Given the description of an element on the screen output the (x, y) to click on. 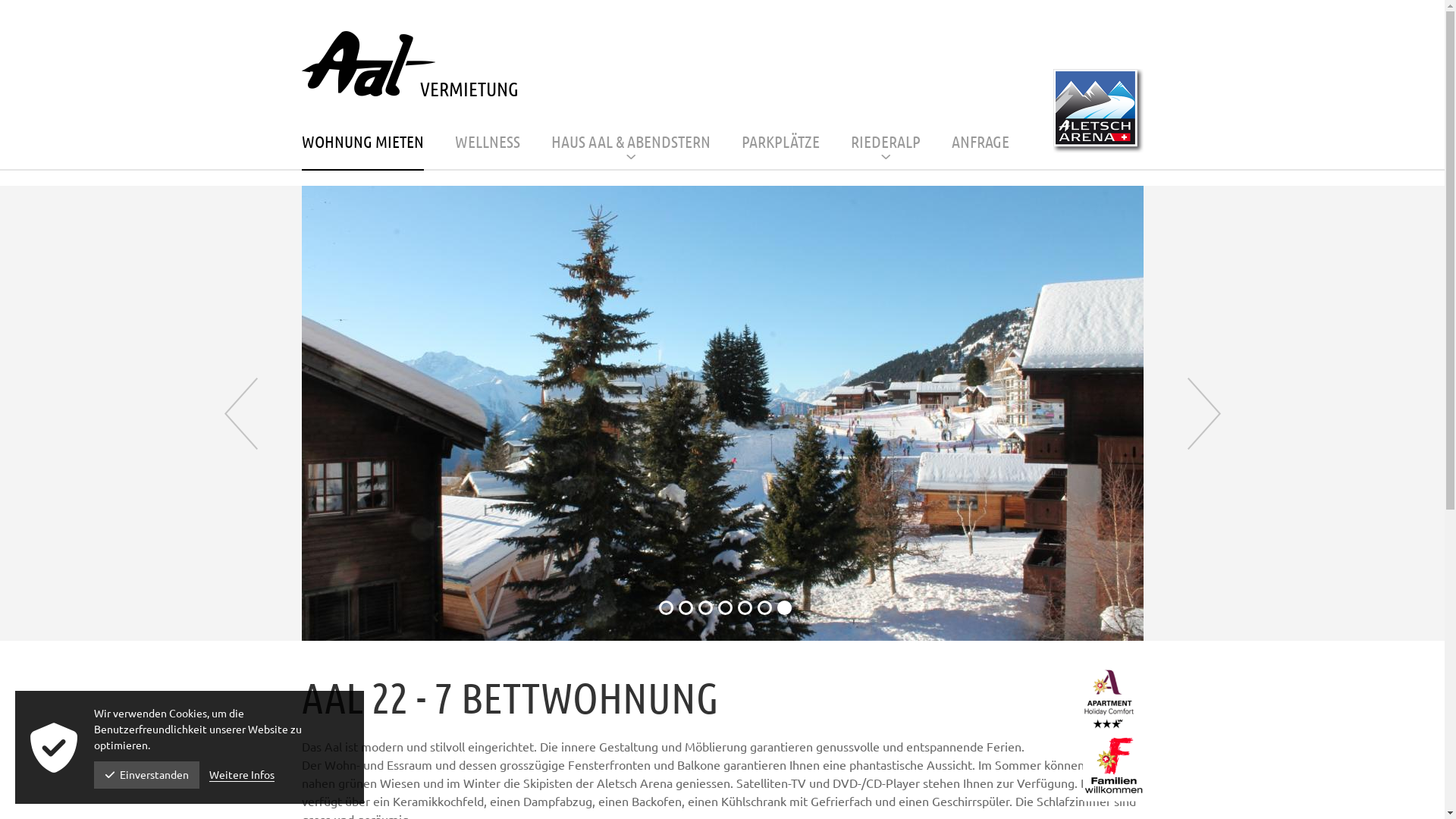
3 Element type: text (704, 607)
5 Element type: text (744, 607)
7 Element type: text (783, 607)
Next Element type: text (1203, 413)
WOHNUNG MIETEN Element type: text (362, 151)
2 Element type: text (684, 607)
4 Element type: text (724, 607)
6 Element type: text (763, 607)
Prev Element type: text (240, 413)
ANFRAGE Element type: text (979, 151)
VERMIETUNG Element type: text (409, 65)
1 Element type: text (665, 607)
RIEDERALP Element type: text (885, 151)
HAUS AAL & ABENDSTERN Element type: text (629, 151)
Einverstanden Element type: text (146, 774)
Weitere Infos Element type: text (241, 775)
WELLNESS Element type: text (487, 151)
